Given the description of an element on the screen output the (x, y) to click on. 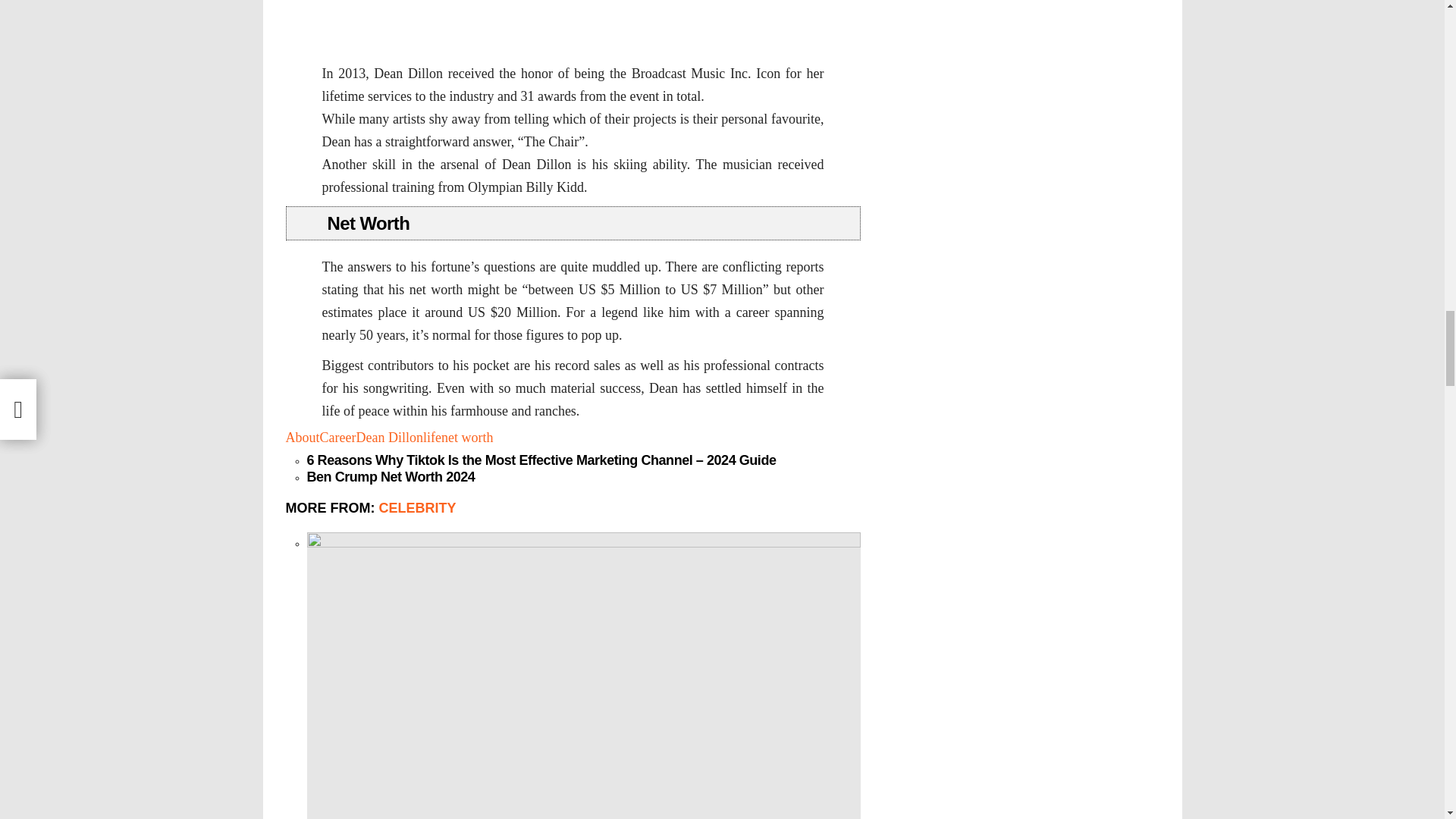
Dean Dillon (388, 437)
Career (338, 437)
Ben Crump Net Worth 2024 (389, 477)
CELEBRITY (417, 507)
net worth (467, 437)
About (301, 437)
life (432, 437)
